Given the description of an element on the screen output the (x, y) to click on. 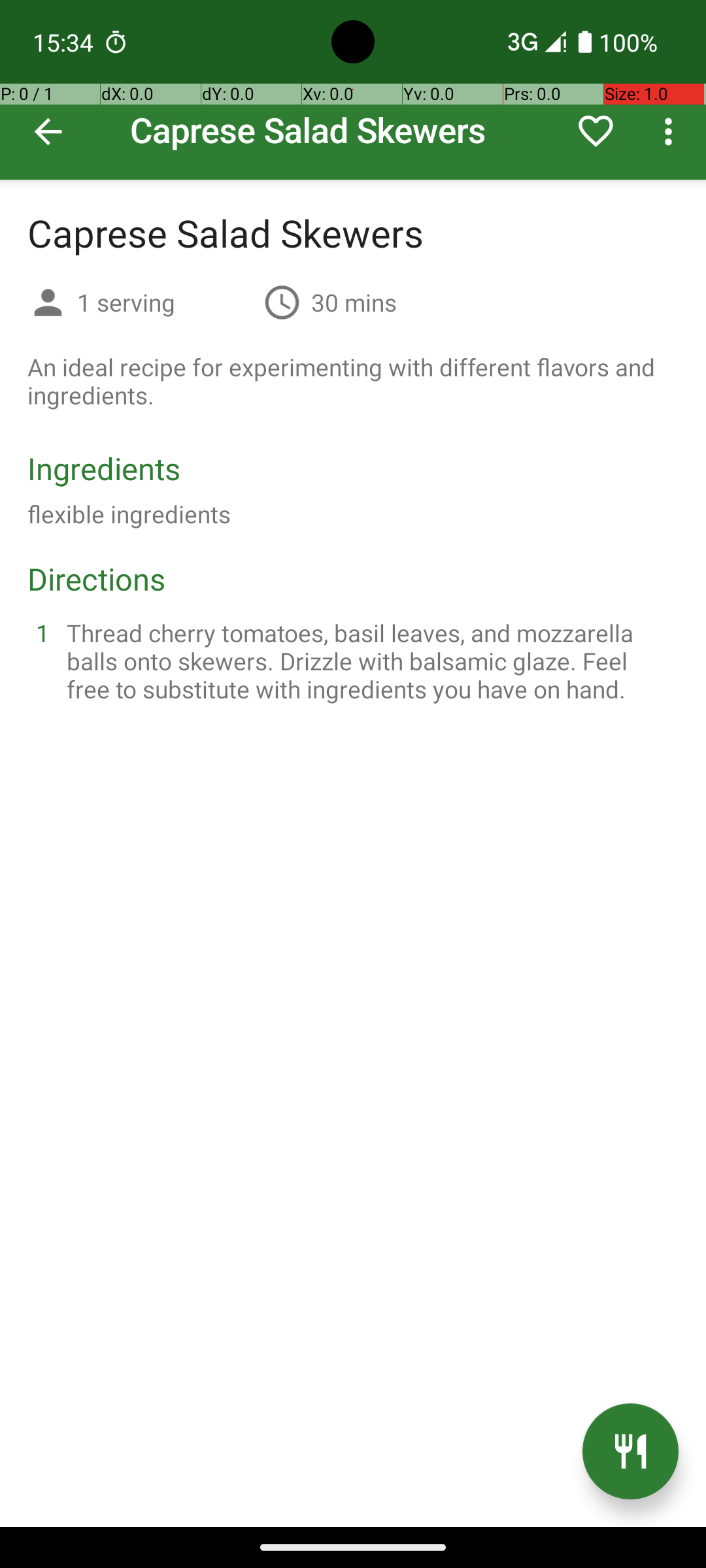
30 mins Element type: android.widget.TextView (353, 301)
flexible ingredients Element type: android.widget.TextView (128, 513)
Thread cherry tomatoes, basil leaves, and mozzarella balls onto skewers. Drizzle with balsamic glaze. Feel free to substitute with ingredients you have on hand. Element type: android.widget.TextView (368, 660)
